Given the description of an element on the screen output the (x, y) to click on. 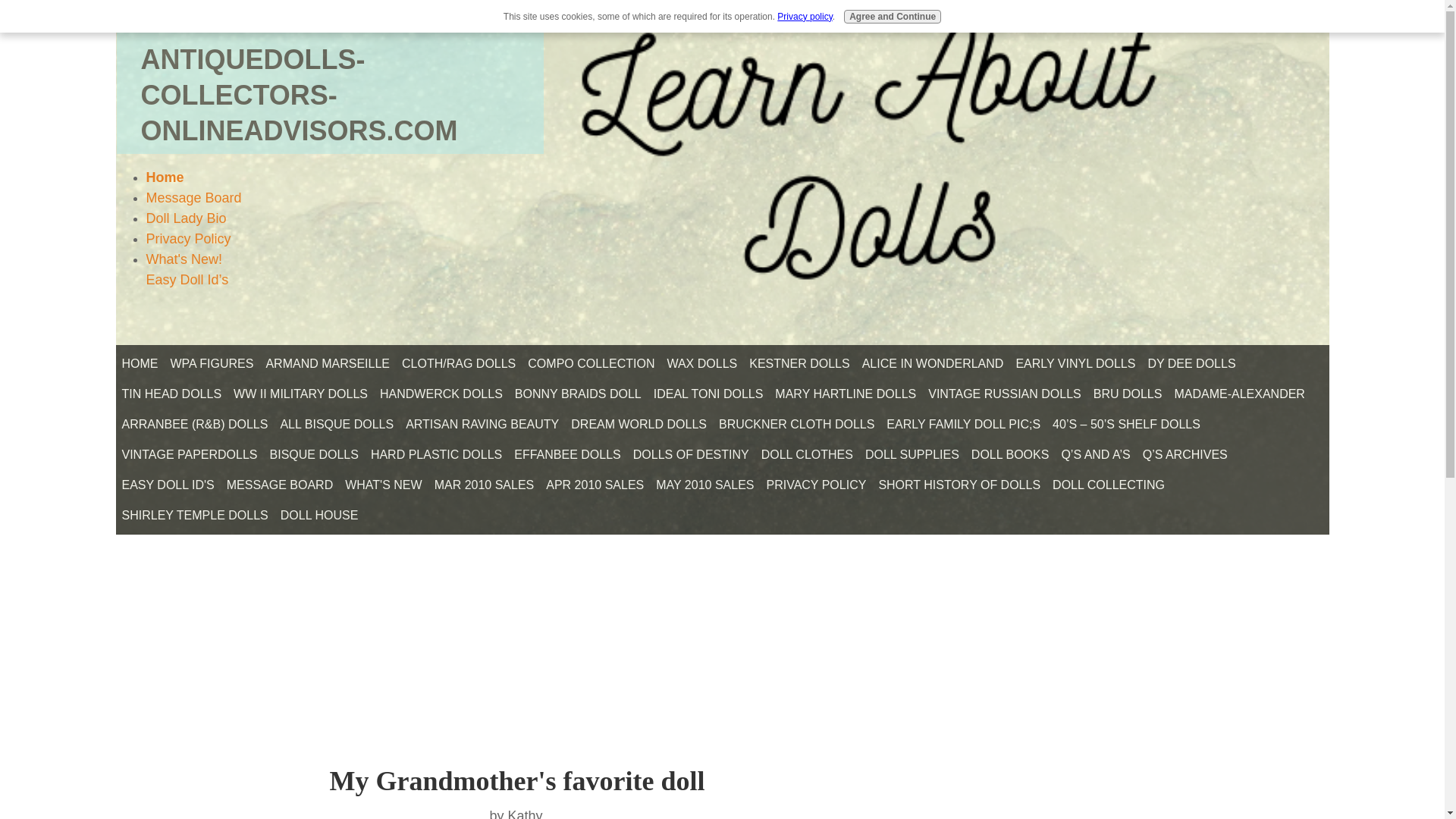
TIN HEAD DOLLS (171, 394)
VINTAGE RUSSIAN DOLLS (1004, 394)
ALICE IN WONDERLAND (933, 363)
COMPO COLLECTION (591, 363)
EARLY VINYL DOLLS (1075, 363)
IDEAL TONI DOLLS (708, 394)
BONNY BRAIDS DOLL (577, 394)
WAX DOLLS (701, 363)
DOLLS OF DESTINY (691, 454)
BISQUE DOLLS (314, 454)
